Given the description of an element on the screen output the (x, y) to click on. 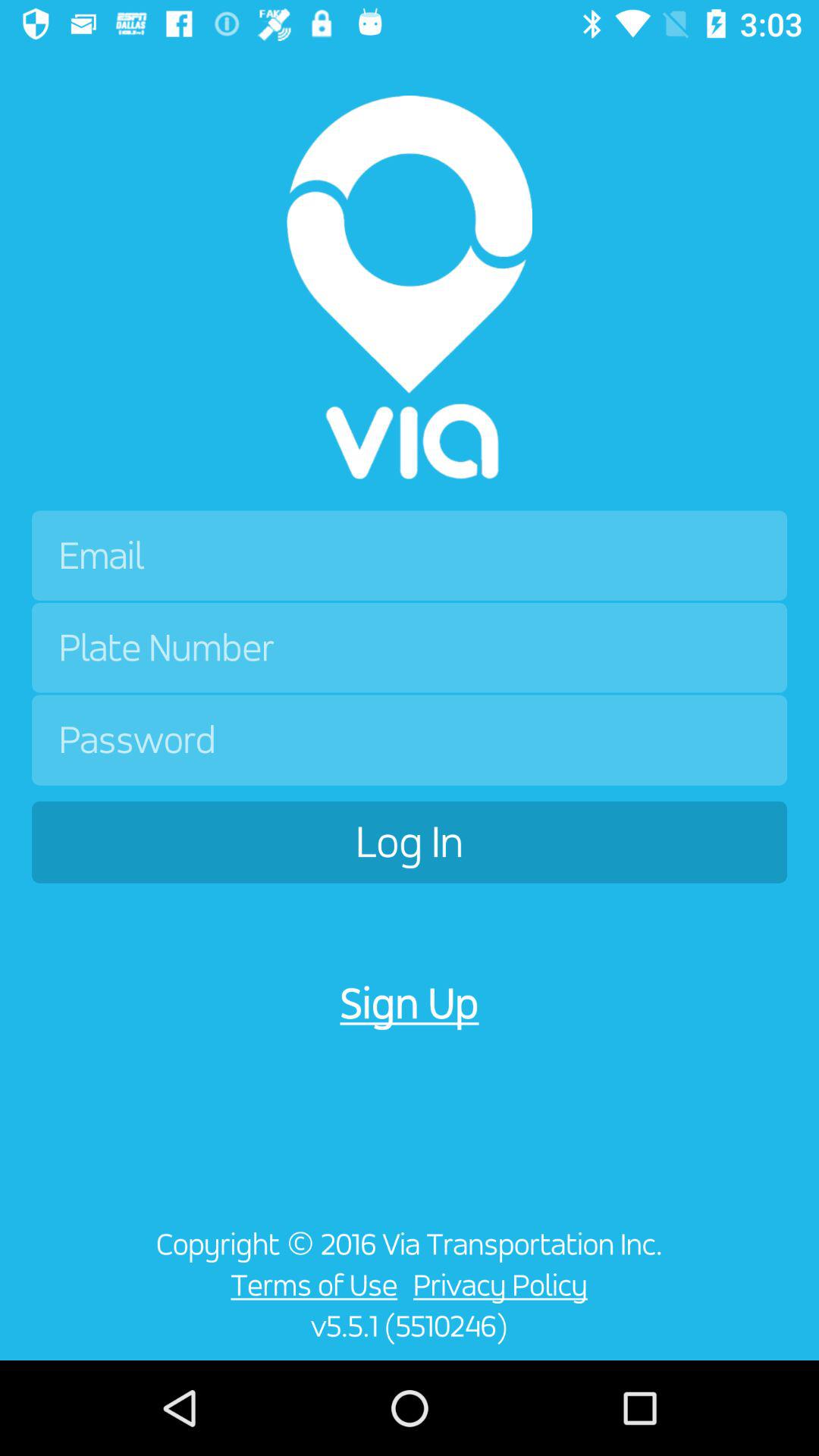
press the item at the bottom left corner (65, 1294)
